Given the description of an element on the screen output the (x, y) to click on. 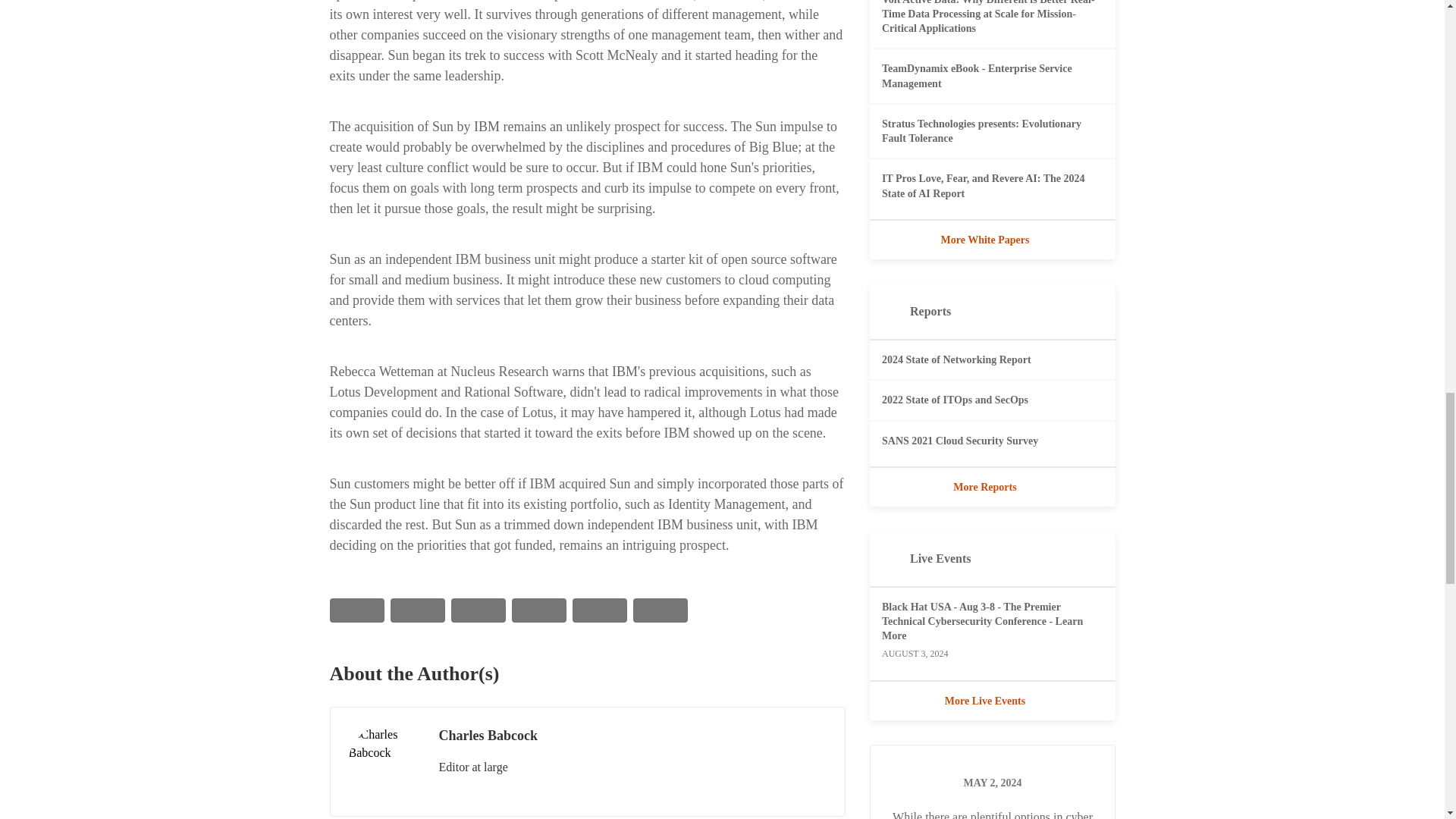
Charles Babcock (384, 761)
